Given the description of an element on the screen output the (x, y) to click on. 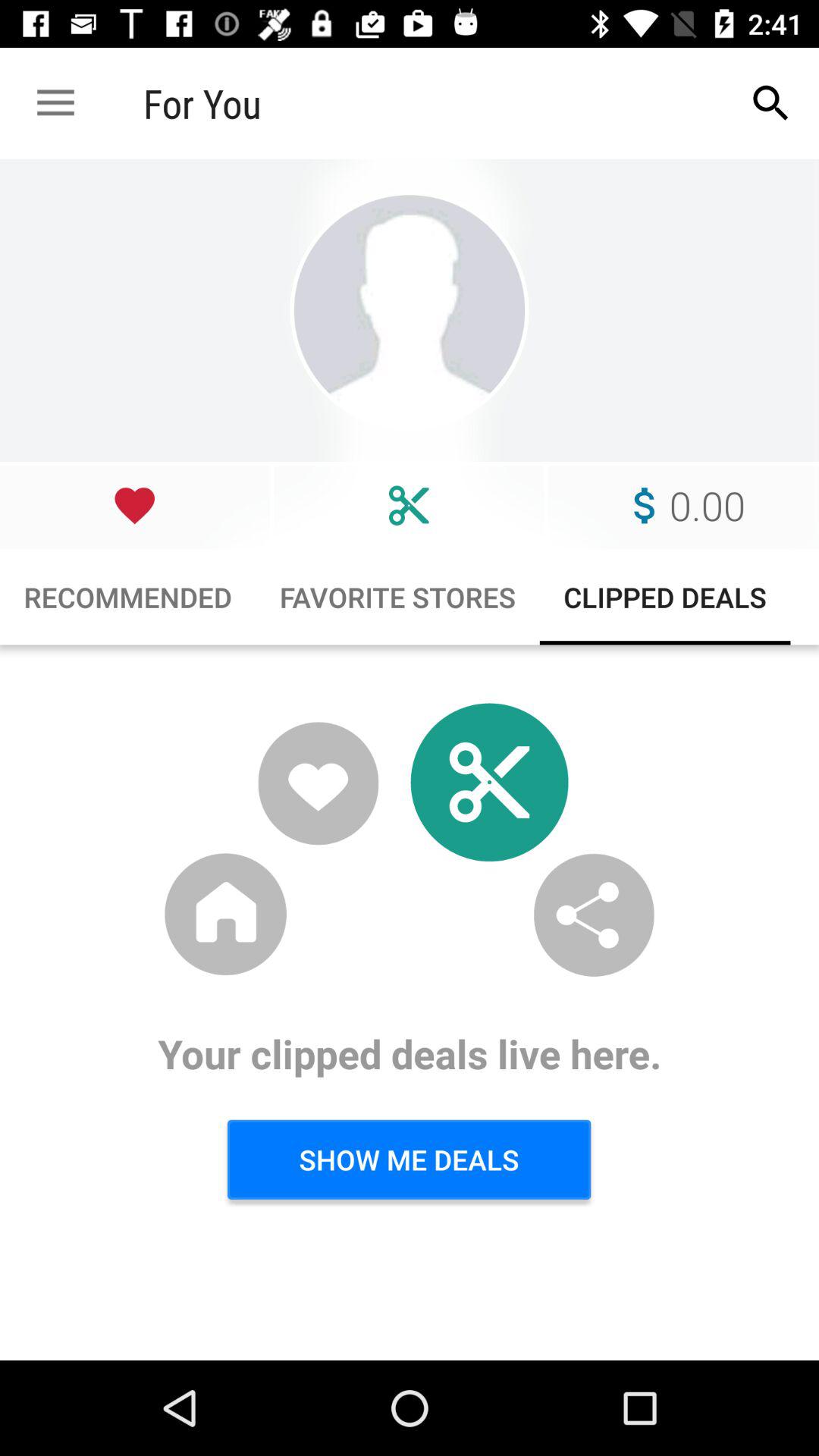
click the icon next to the for you app (771, 103)
